Given the description of an element on the screen output the (x, y) to click on. 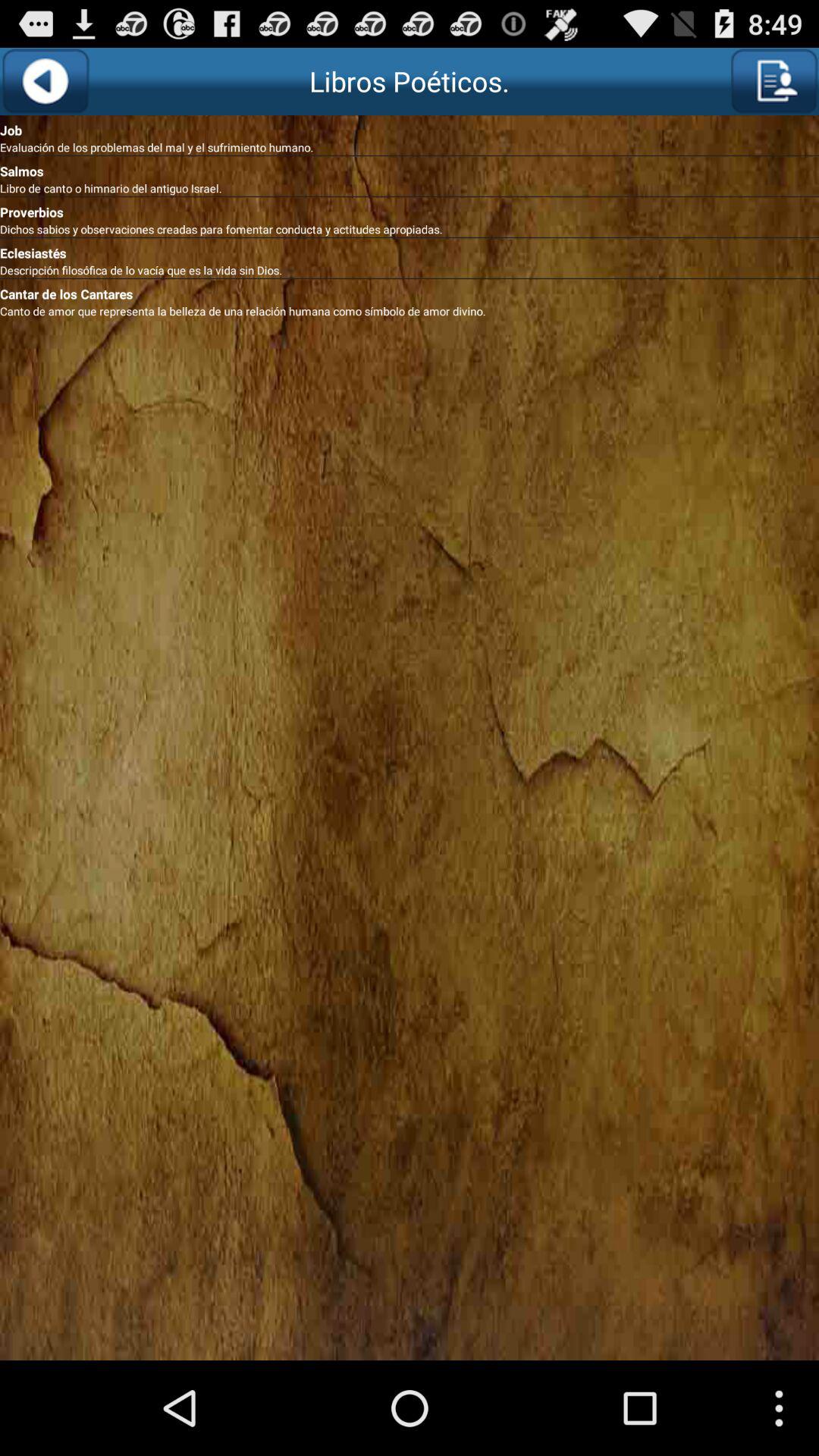
launch the icon above job app (773, 81)
